Given the description of an element on the screen output the (x, y) to click on. 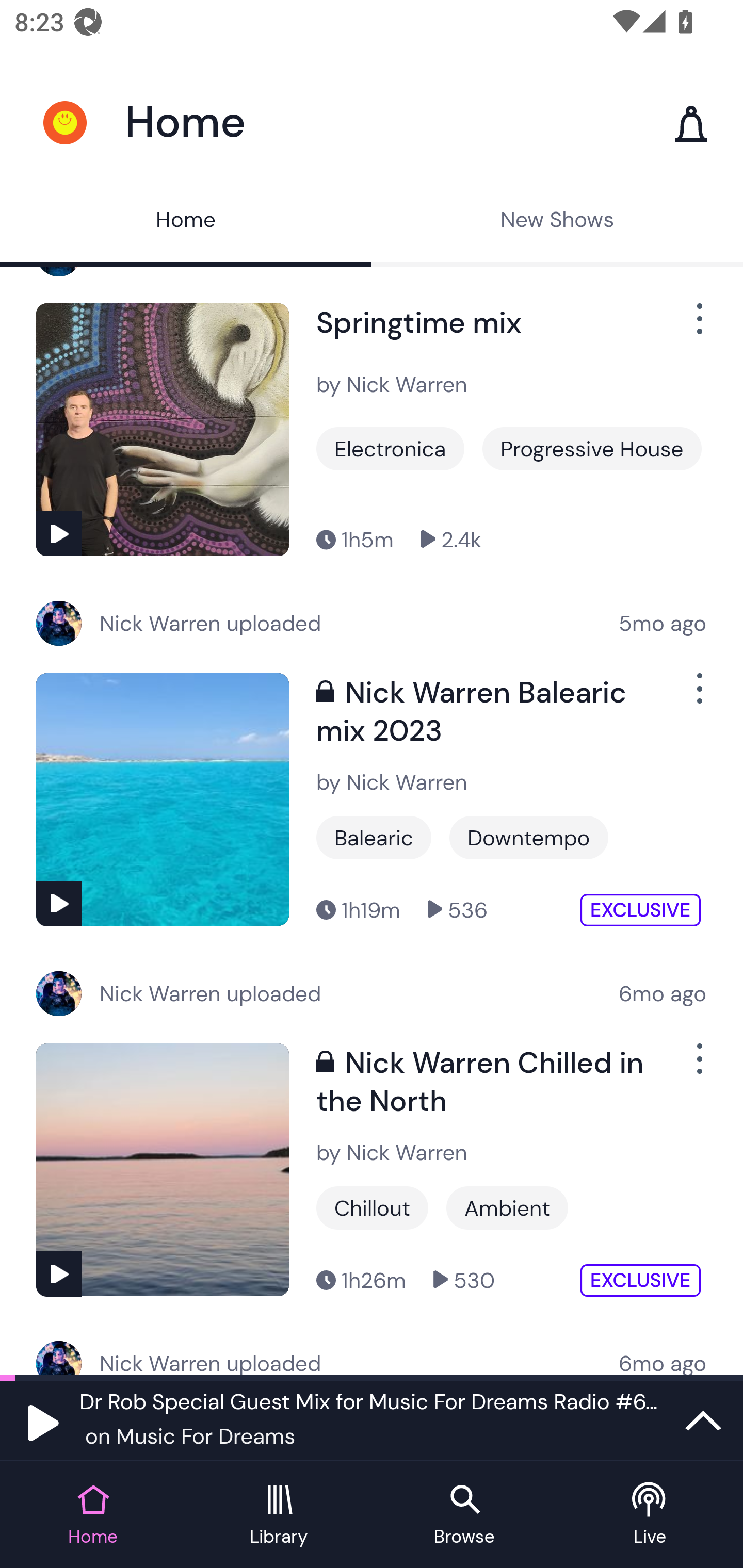
Home (185, 221)
New Shows (557, 221)
Show Options Menu Button (697, 325)
Electronica (390, 448)
Progressive House (591, 448)
Show Options Menu Button (697, 695)
Balearic (373, 837)
Downtempo (528, 837)
Show Options Menu Button (697, 1065)
Chillout (371, 1207)
Ambient (507, 1207)
Home tab Home (92, 1515)
Library tab Library (278, 1515)
Browse tab Browse (464, 1515)
Live tab Live (650, 1515)
